Given the description of an element on the screen output the (x, y) to click on. 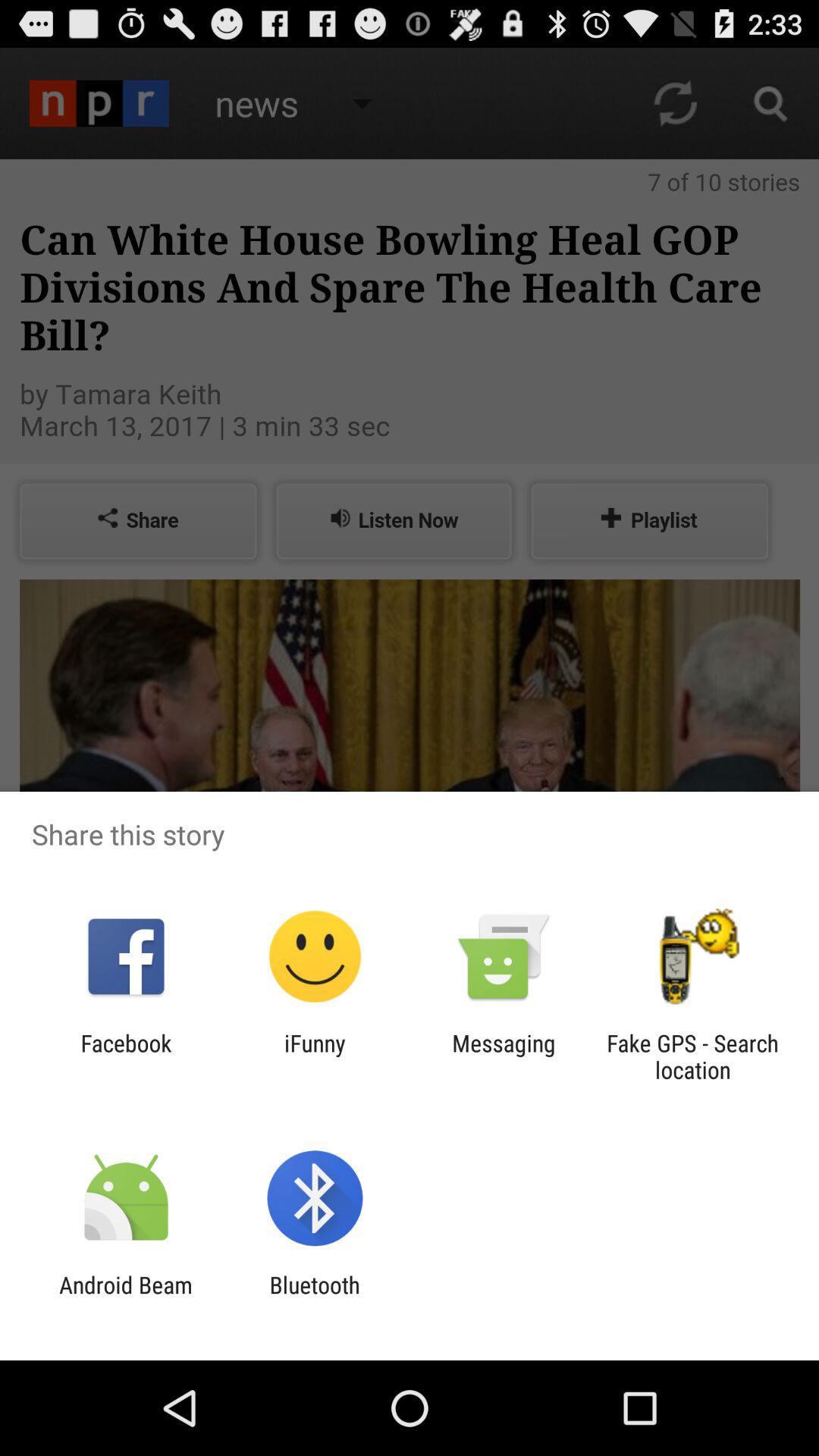
open the item at the bottom right corner (692, 1056)
